Given the description of an element on the screen output the (x, y) to click on. 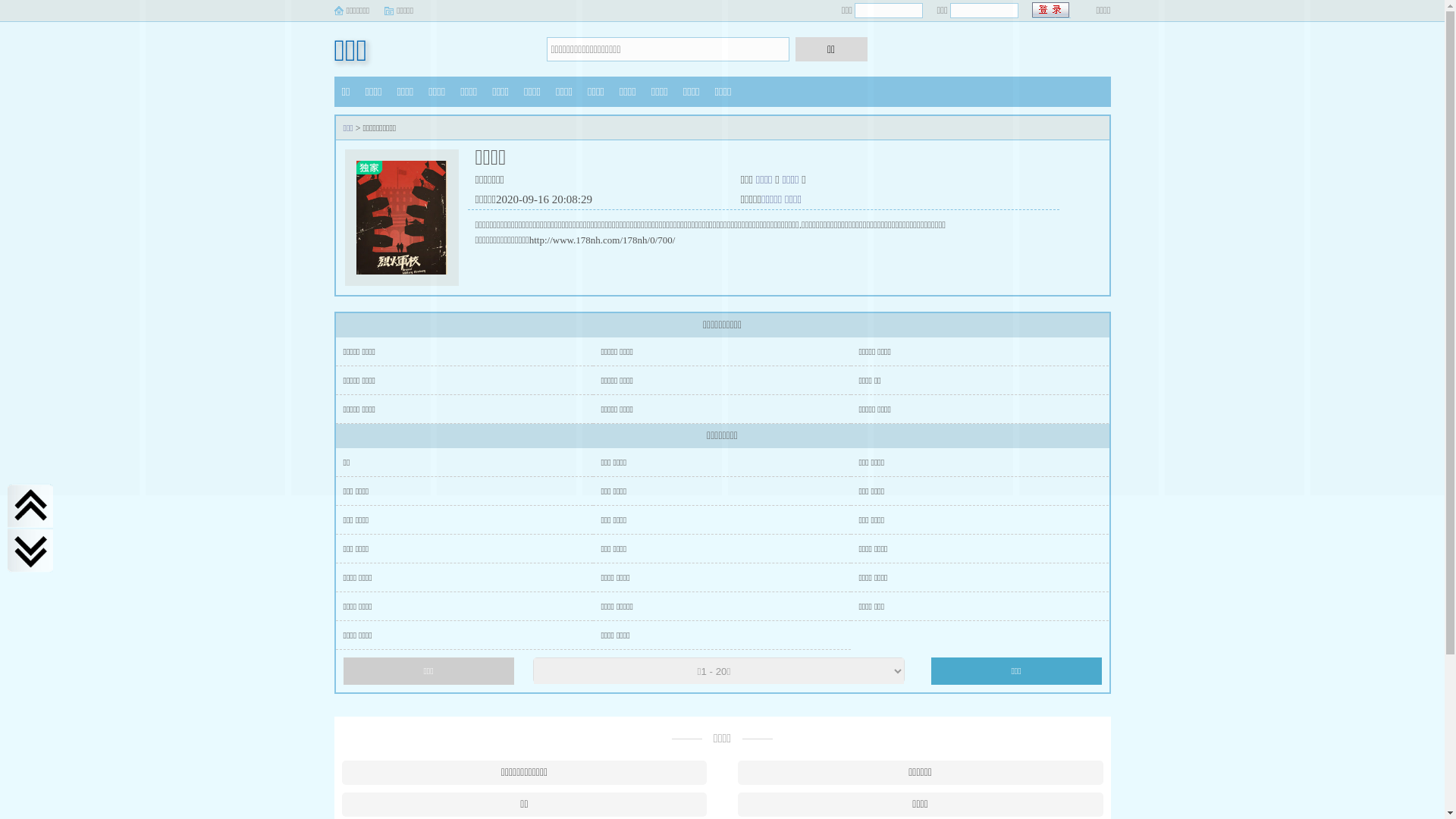
  Element type: text (1051, 10)
